Given the description of an element on the screen output the (x, y) to click on. 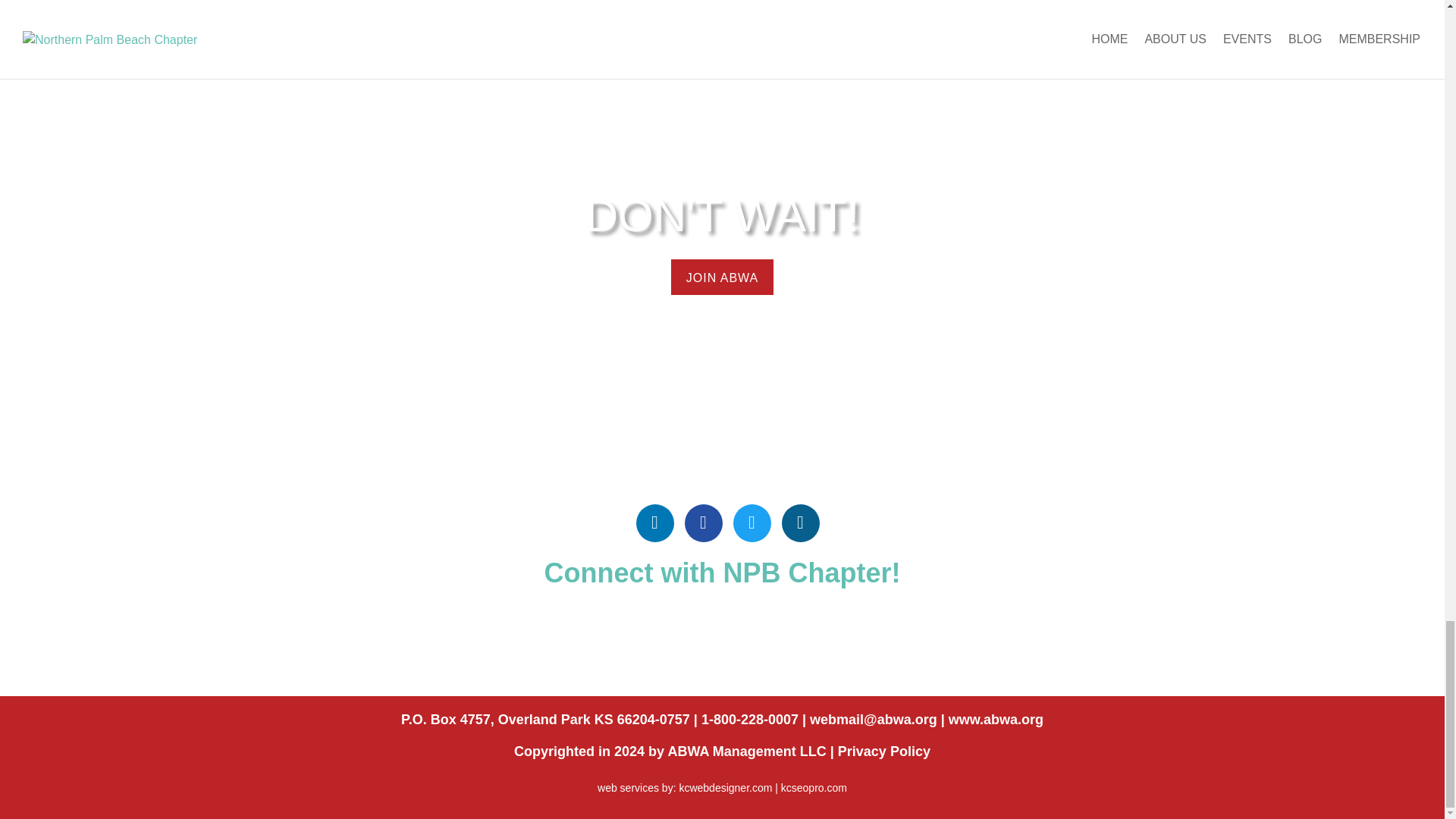
1-800-228-0007 (749, 719)
kcwebdesigner.com (724, 787)
view more (722, 276)
JOIN ABWA (722, 276)
kcseopro.com (813, 787)
Privacy Policy (884, 751)
